Given the description of an element on the screen output the (x, y) to click on. 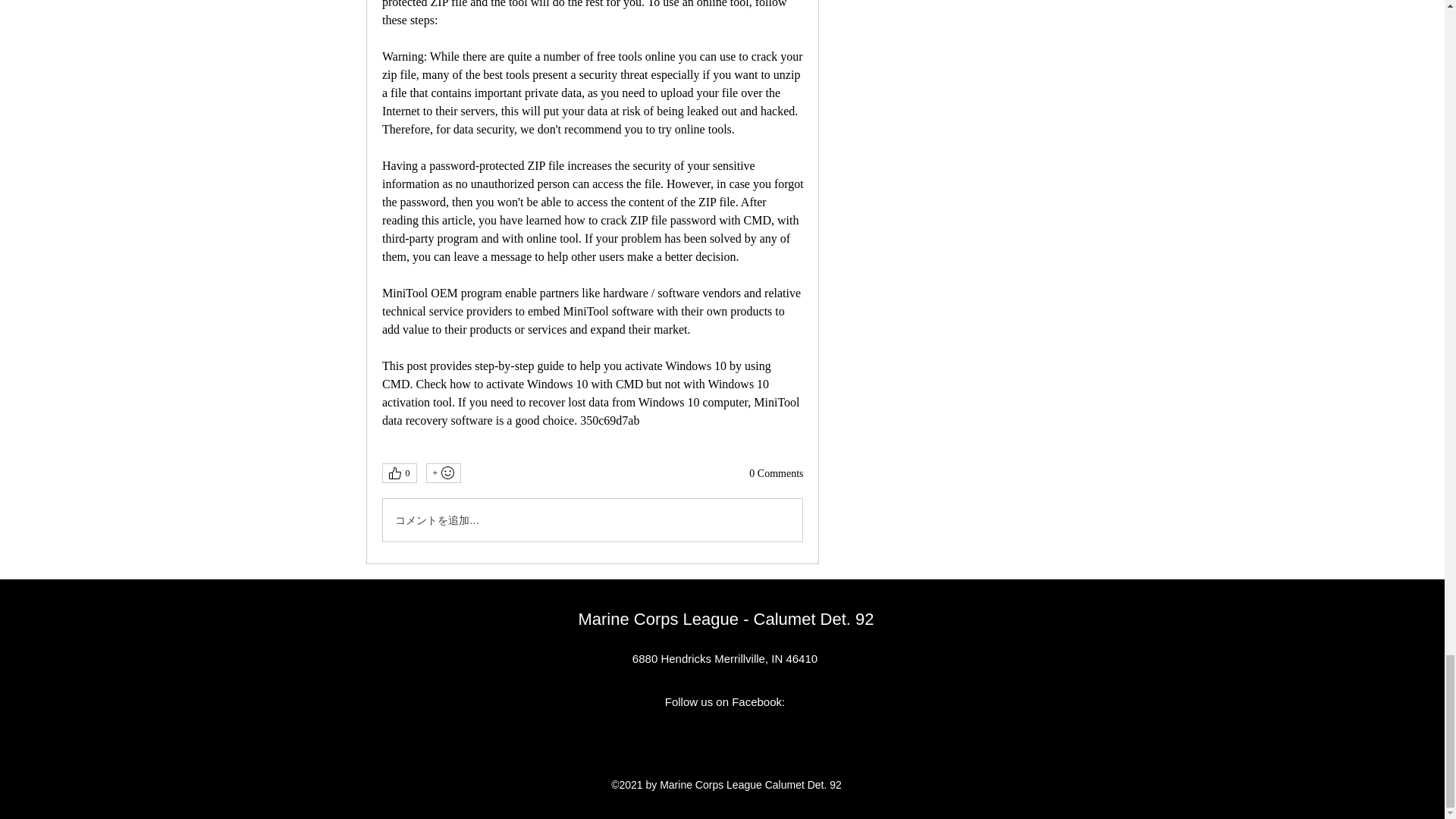
Marine Corps League - Calumet Det. 92 (725, 618)
0 Comments (776, 473)
